Given the description of an element on the screen output the (x, y) to click on. 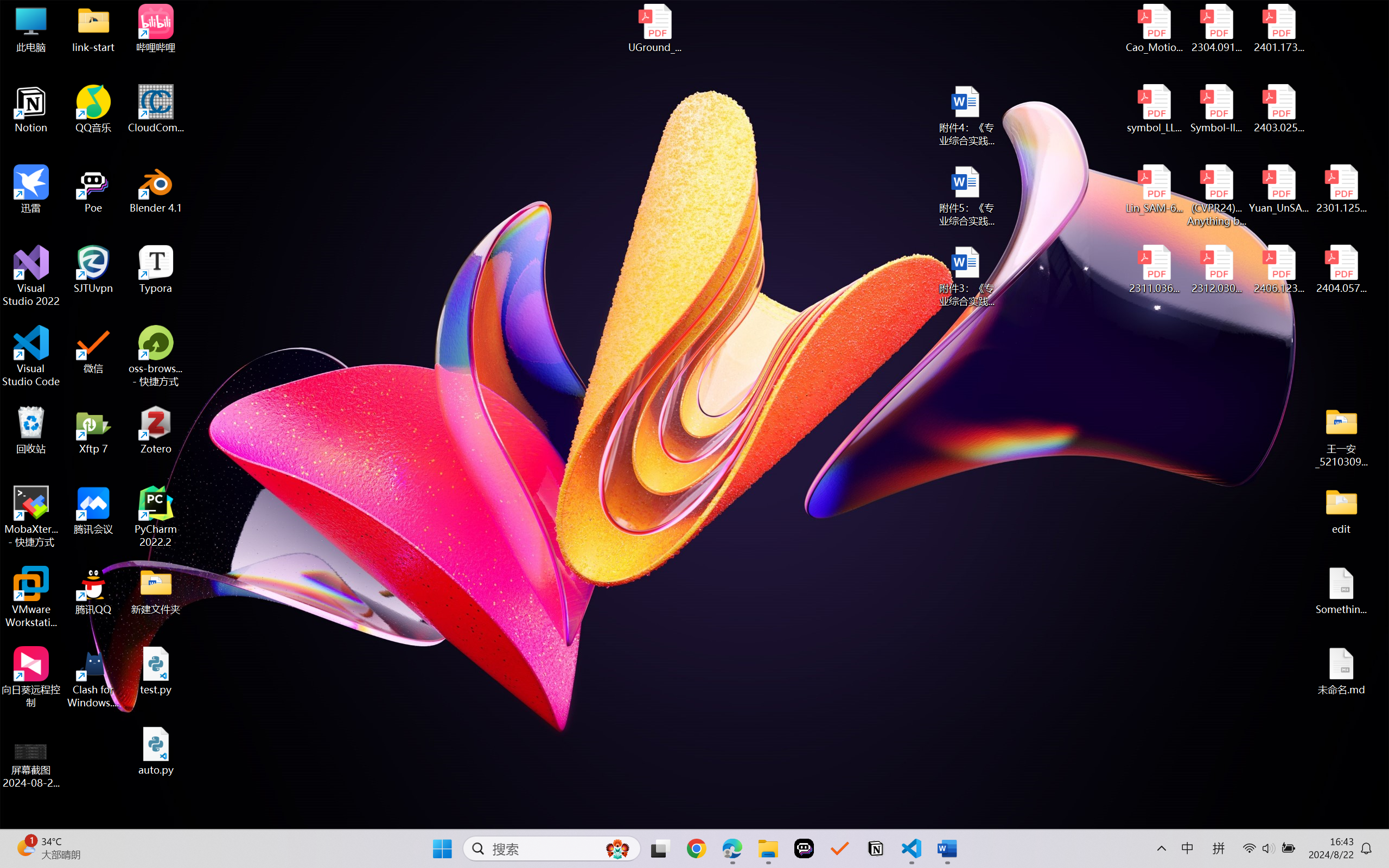
2406.12373v2.pdf (1278, 269)
Something.md (1340, 591)
2301.12597v3.pdf (1340, 189)
Visual Studio 2022 (31, 276)
PyCharm 2022.2 (156, 516)
VMware Workstation Pro (31, 597)
